Given the description of an element on the screen output the (x, y) to click on. 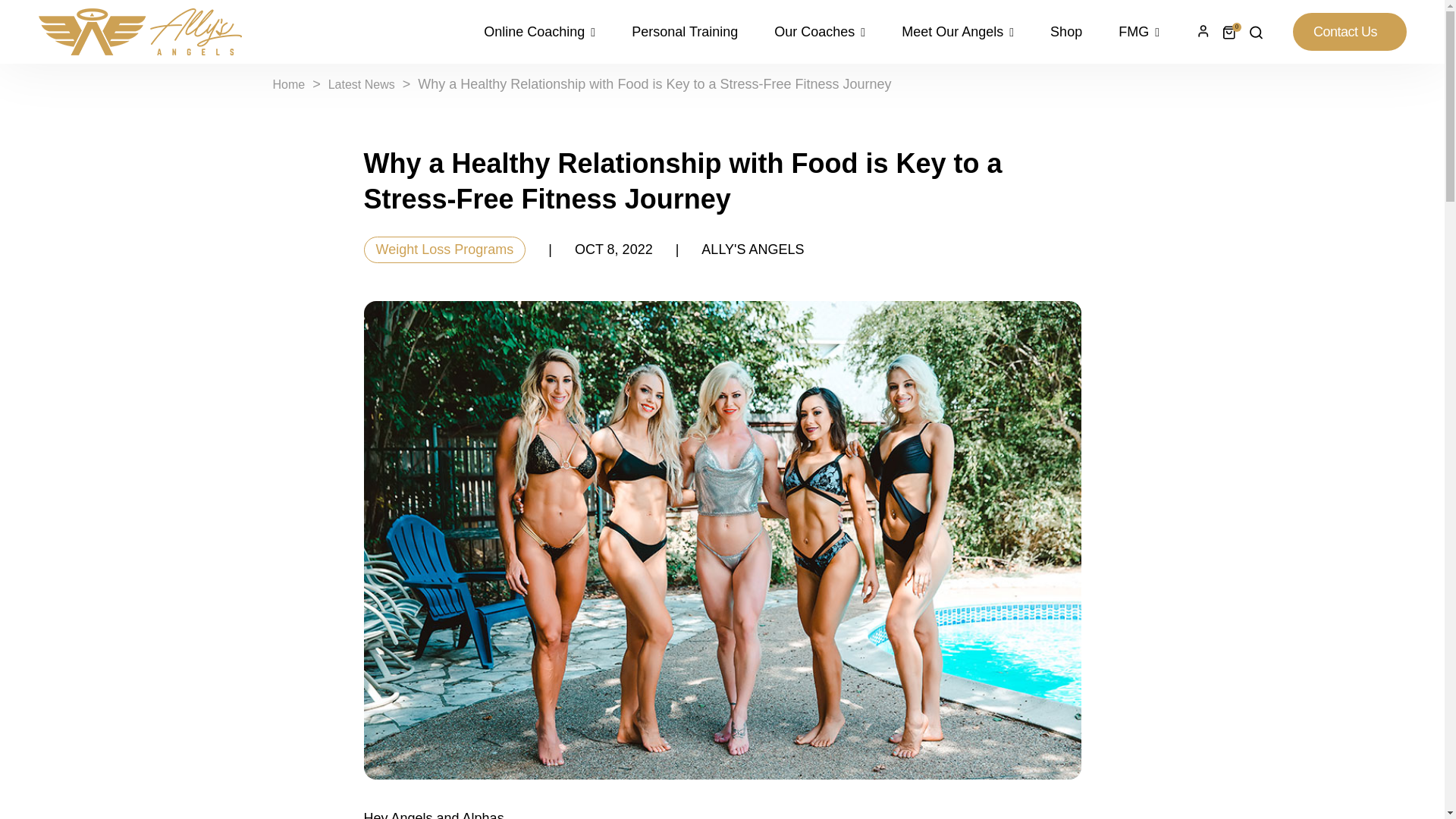
Home (289, 83)
Our Coaches (819, 31)
FMG (1129, 31)
Latest News (361, 83)
Shop (1066, 31)
Contact Us (1349, 31)
Personal Training (683, 31)
Online Coaching (547, 31)
Meet Our Angels (957, 31)
